Given the description of an element on the screen output the (x, y) to click on. 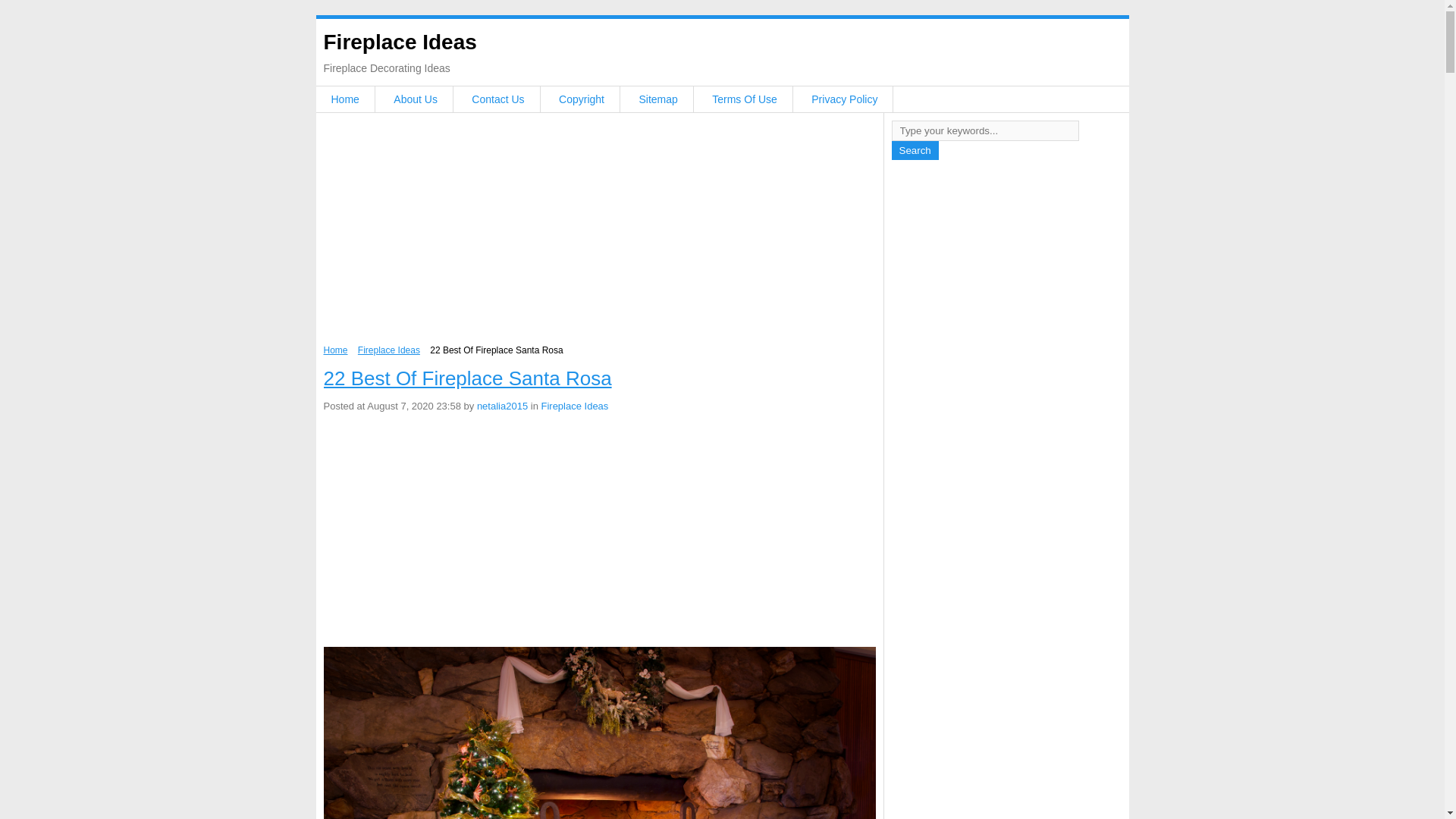
About Us (415, 99)
Advertisement (599, 232)
Search (915, 149)
netalia2015 (502, 405)
Privacy Policy (843, 99)
Terms Of Use (744, 99)
Fireplace Ideas (389, 349)
22 Best Of Fireplace Santa Rosa (467, 377)
Home (344, 99)
Copyright (581, 99)
Sitemap (658, 99)
Contact Us (497, 99)
Advertisement (599, 532)
Fireplace Ideas (574, 405)
Fireplace Ideas (399, 42)
